Given the description of an element on the screen output the (x, y) to click on. 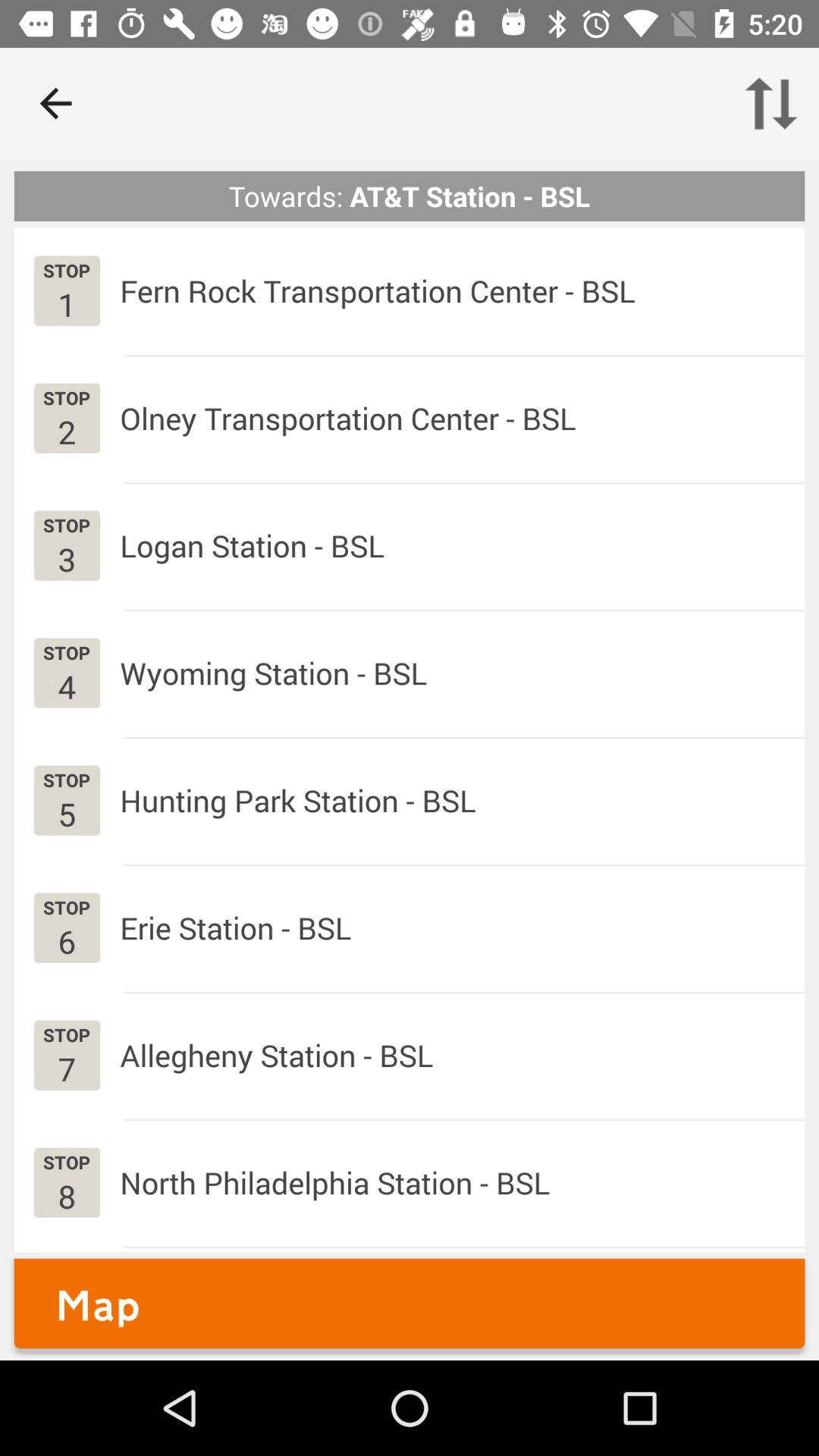
flip until olney transportation center icon (348, 418)
